Given the description of an element on the screen output the (x, y) to click on. 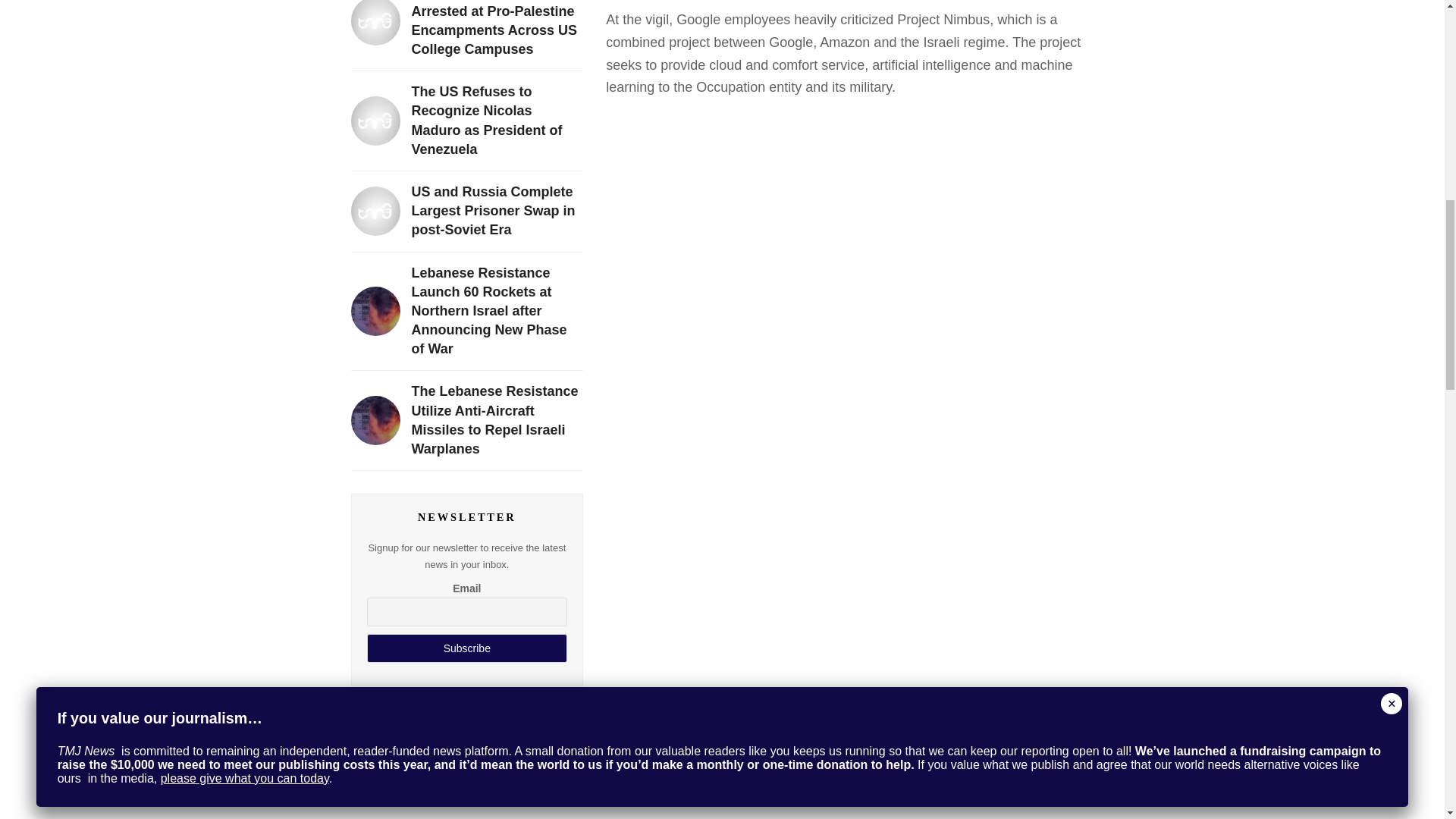
Facebook (378, 750)
Youtube (555, 750)
Instagram (436, 750)
Twitter (496, 750)
Subscribe (466, 647)
